Given the description of an element on the screen output the (x, y) to click on. 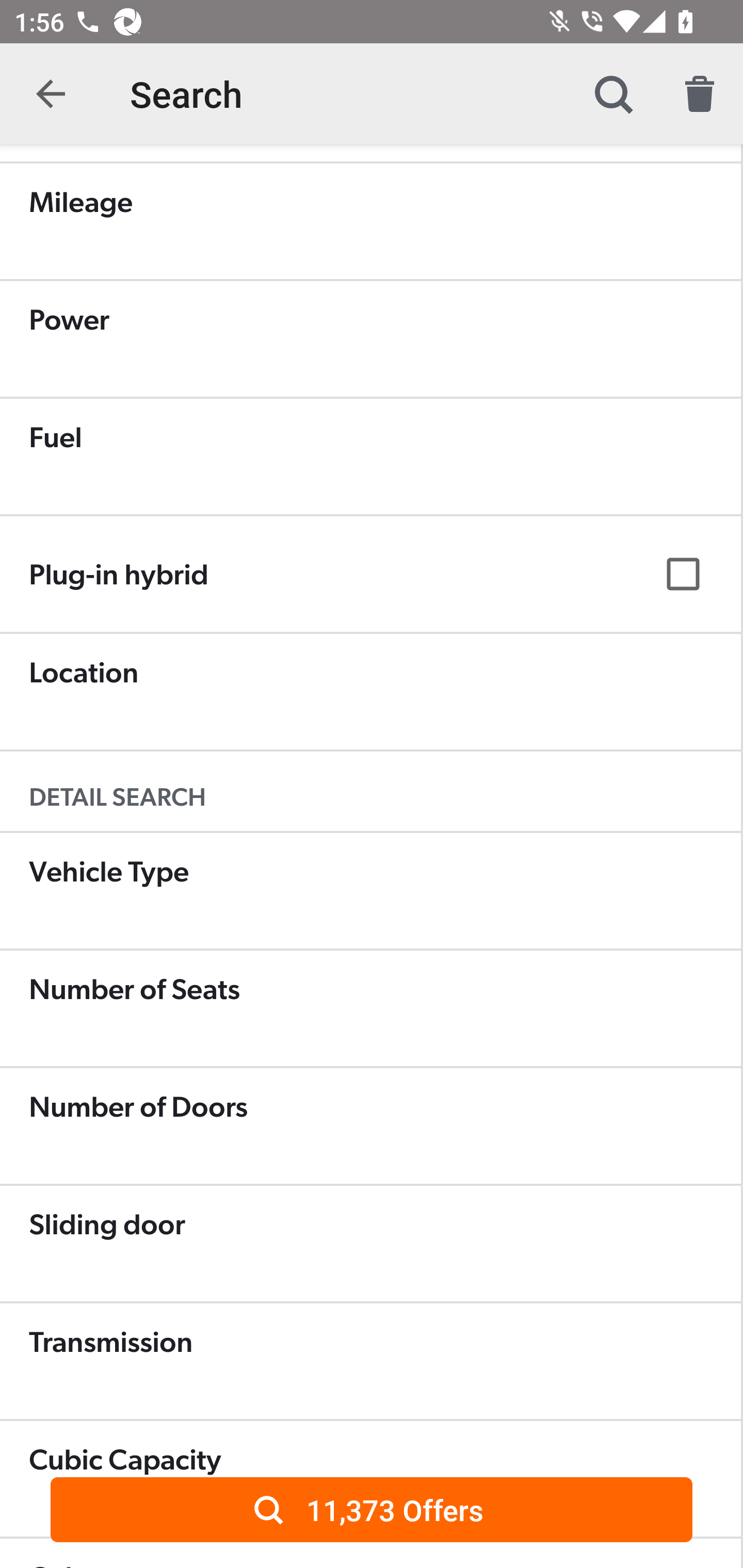
Navigate up (50, 93)
Search (612, 93)
Reset search (699, 93)
Mileage (370, 221)
Power (370, 338)
Fuel (370, 456)
Plug-in hybrid (370, 573)
Plug-in hybrid (369, 574)
Location (370, 691)
Vehicle Type (370, 890)
Number of Seats (370, 1008)
Number of Doors (370, 1125)
Sliding door (370, 1243)
Transmission (370, 1361)
11,373 Offers (371, 1509)
